Given the description of an element on the screen output the (x, y) to click on. 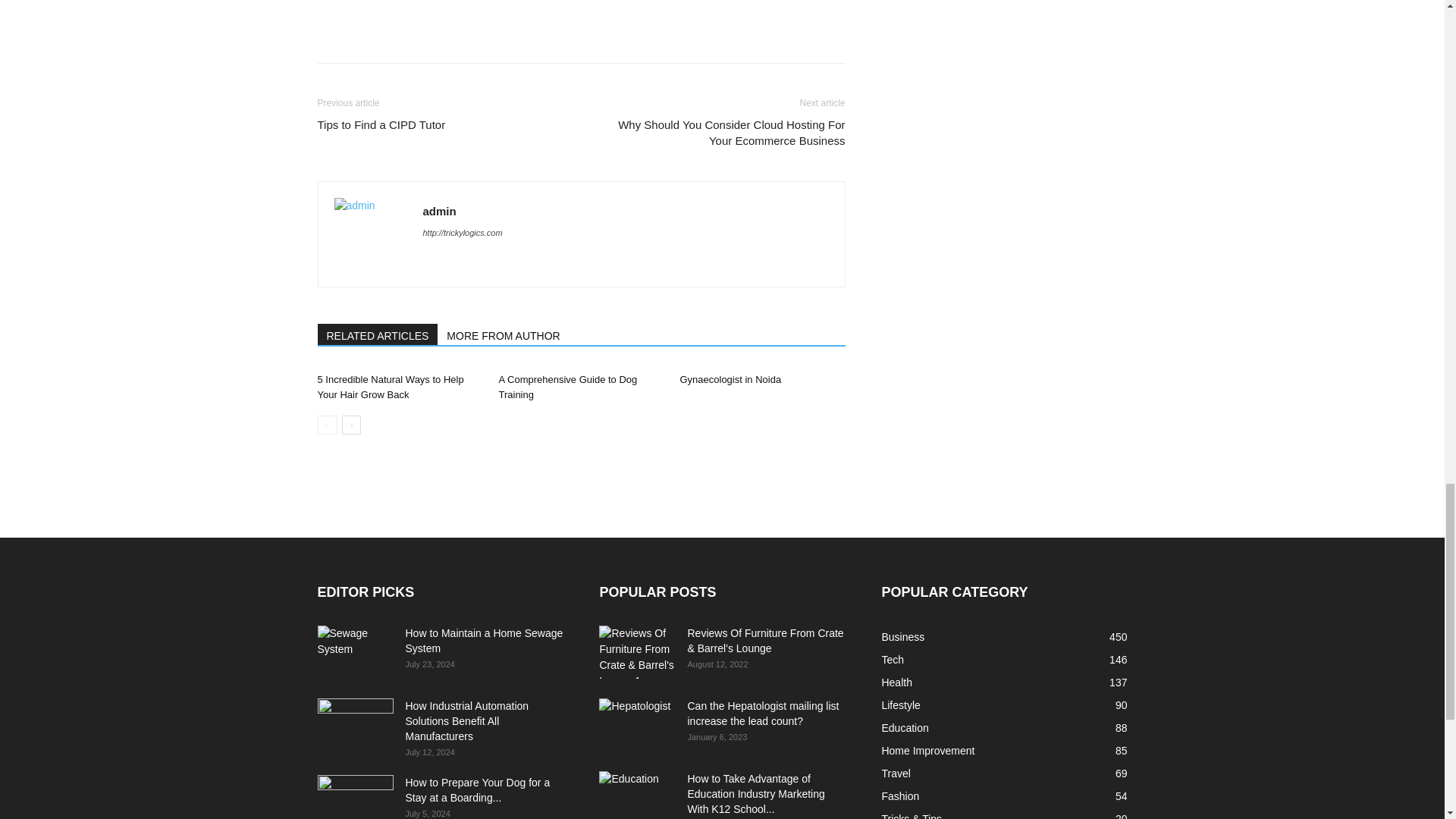
bottomFacebookLike (430, 2)
